Given the description of an element on the screen output the (x, y) to click on. 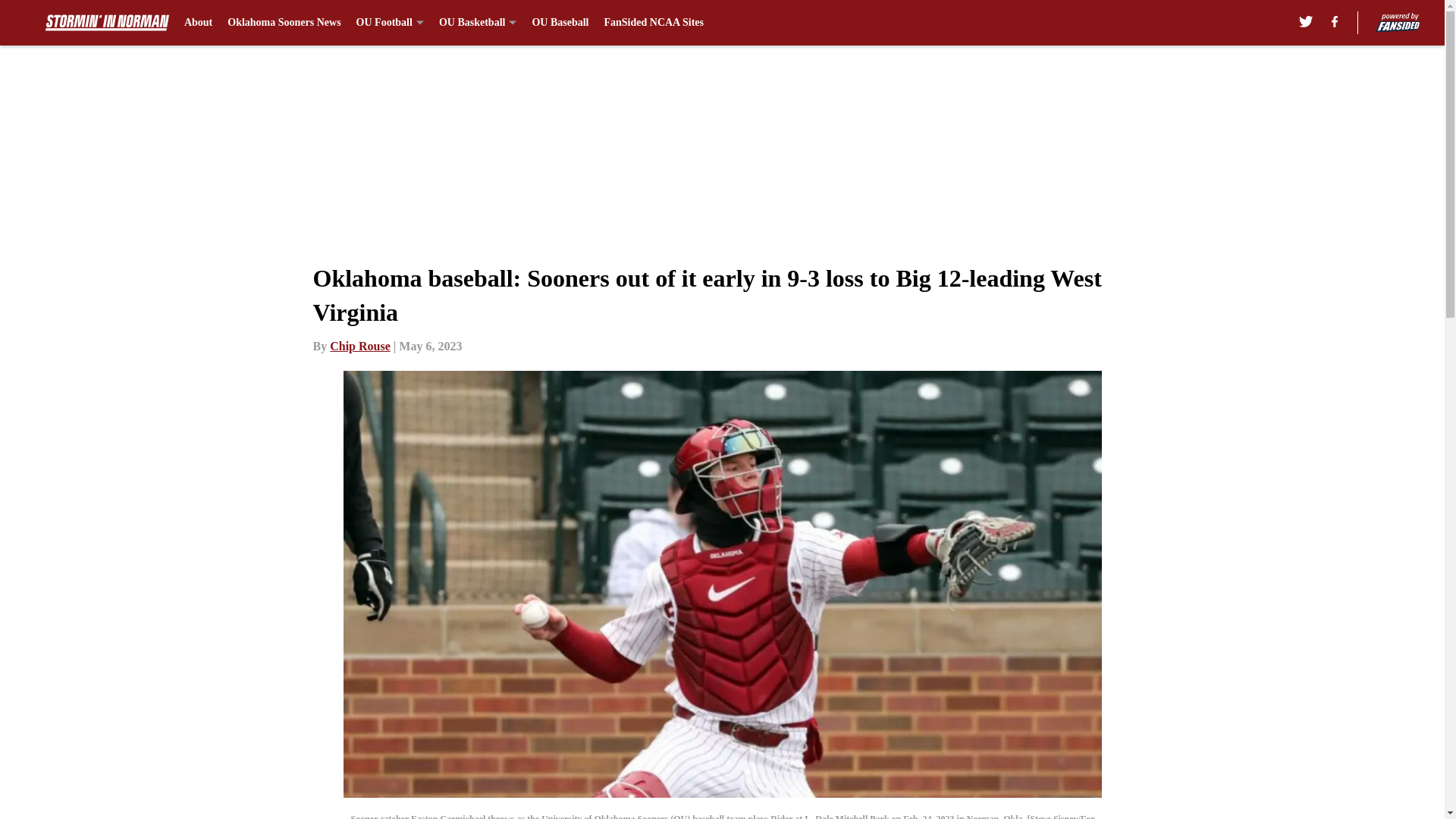
OU Baseball (559, 22)
Chip Rouse (360, 345)
About (198, 22)
FanSided NCAA Sites (653, 22)
Oklahoma Sooners News (283, 22)
